Given the description of an element on the screen output the (x, y) to click on. 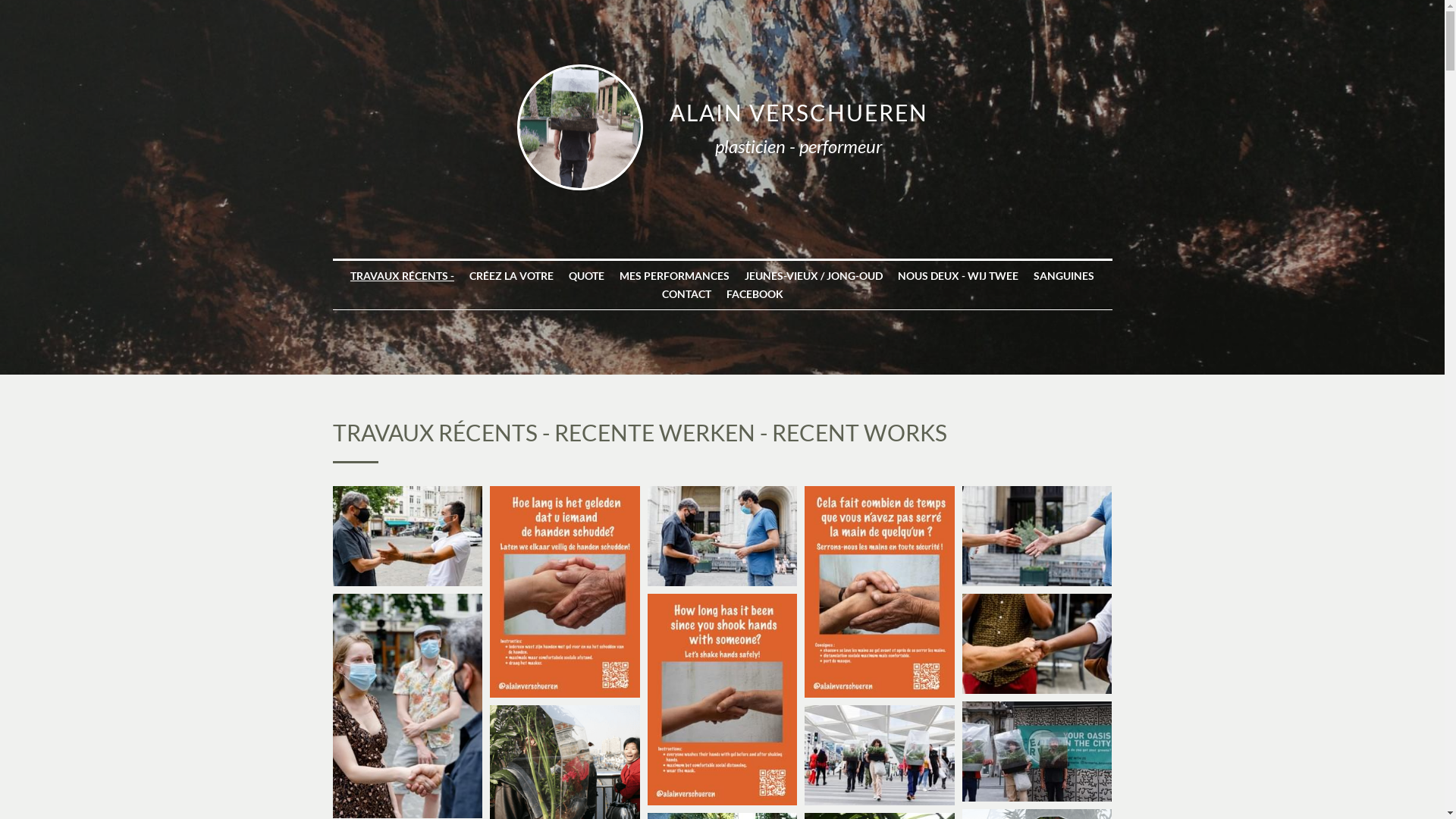
CONTACT Element type: text (685, 294)
QUOTE Element type: text (586, 275)
SANGUINES Element type: text (1063, 275)
JEUNES-VIEUX / JONG-OUD Element type: text (813, 275)
FACEBOOK Element type: text (754, 294)
NOUS DEUX - WIJ TWEE Element type: text (957, 275)
MES PERFORMANCES Element type: text (674, 275)
